Given the description of an element on the screen output the (x, y) to click on. 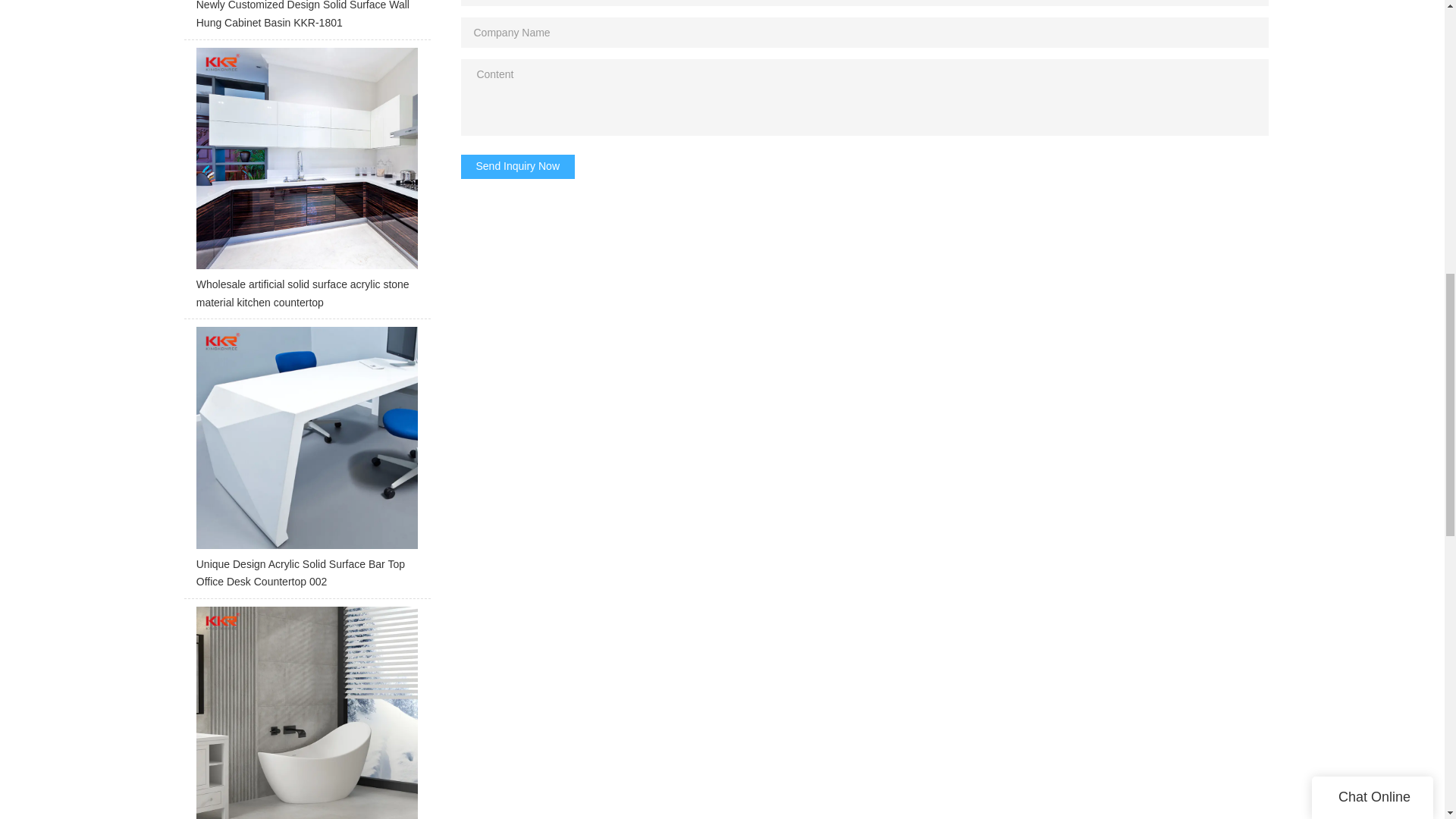
Send Inquiry Now (518, 166)
High Quality Lucite Acrylic Bathtub B072 (306, 712)
